Given the description of an element on the screen output the (x, y) to click on. 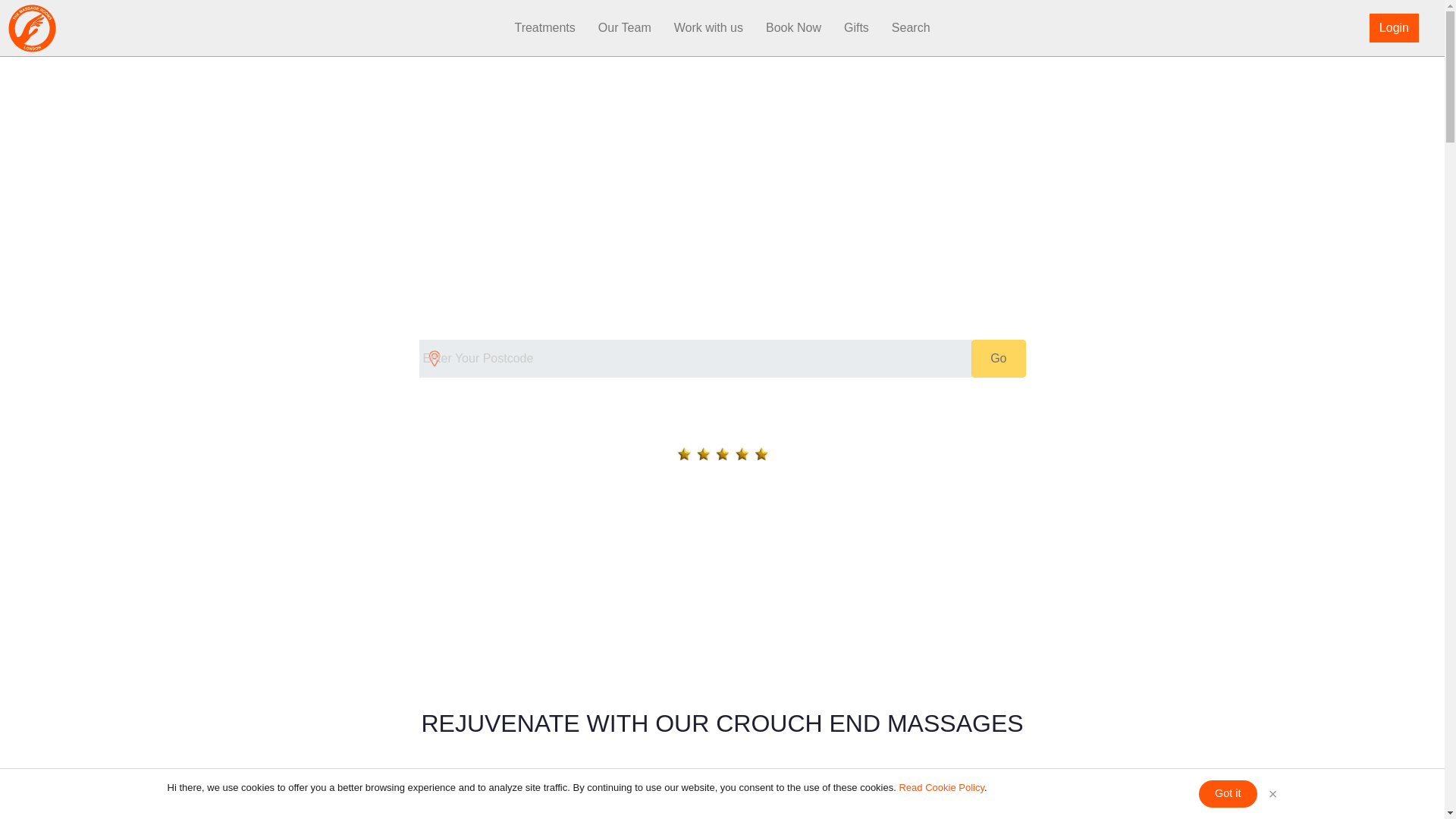
Gifts (856, 28)
Treatments (544, 28)
Go to The Massage Rooms home page (75, 28)
5-star-reviews-rating (721, 453)
Our Team (624, 28)
Go to The Massage Rooms home page (31, 27)
Search (911, 28)
Login (1394, 27)
Go (998, 358)
Work with us (708, 28)
Book Now (793, 28)
